Given the description of an element on the screen output the (x, y) to click on. 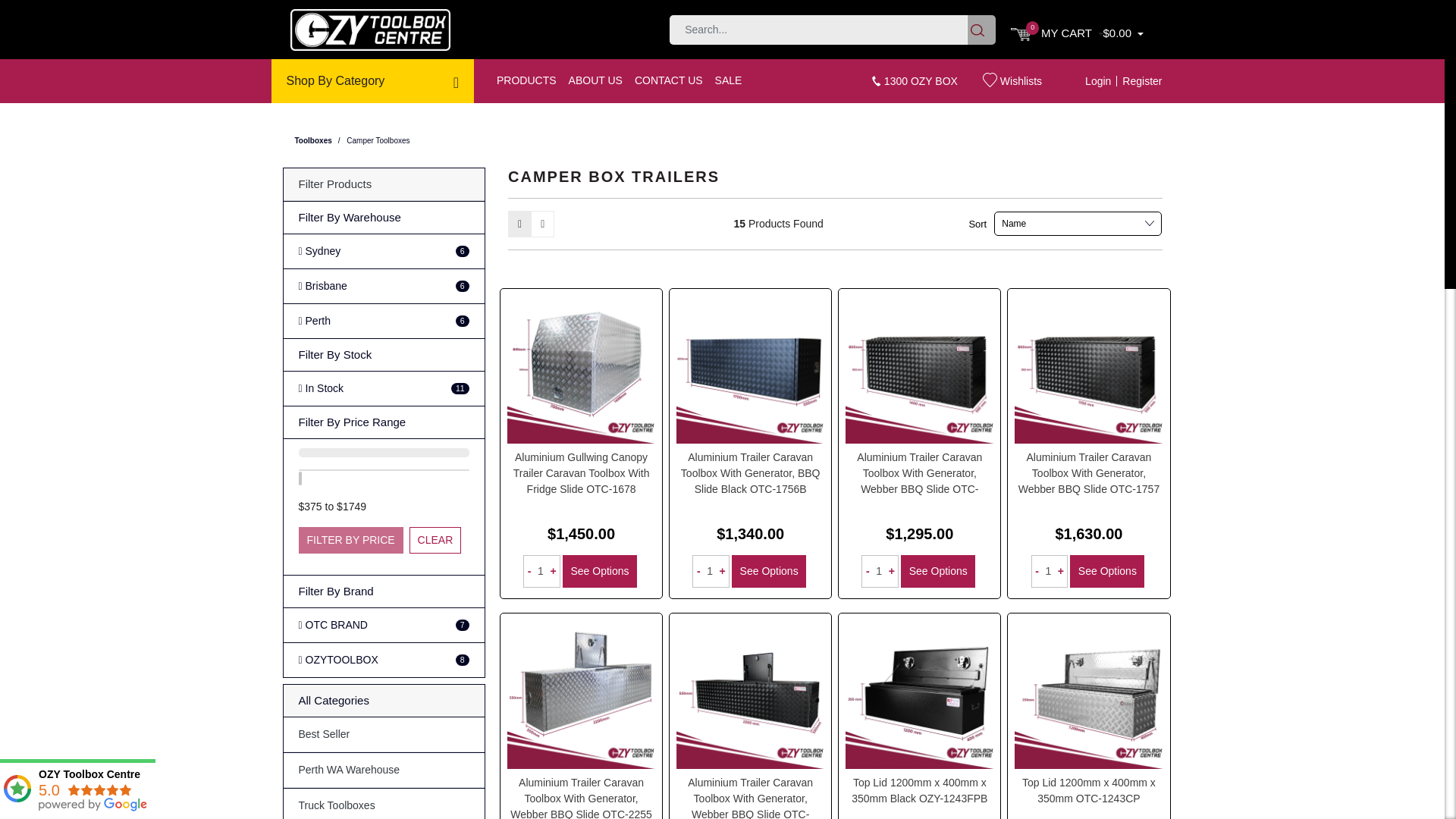
Login (1098, 81)
Search (980, 30)
OZY TOOLBOX CENTRE (369, 28)
Register (1138, 81)
Filter By Price (350, 540)
